Given the description of an element on the screen output the (x, y) to click on. 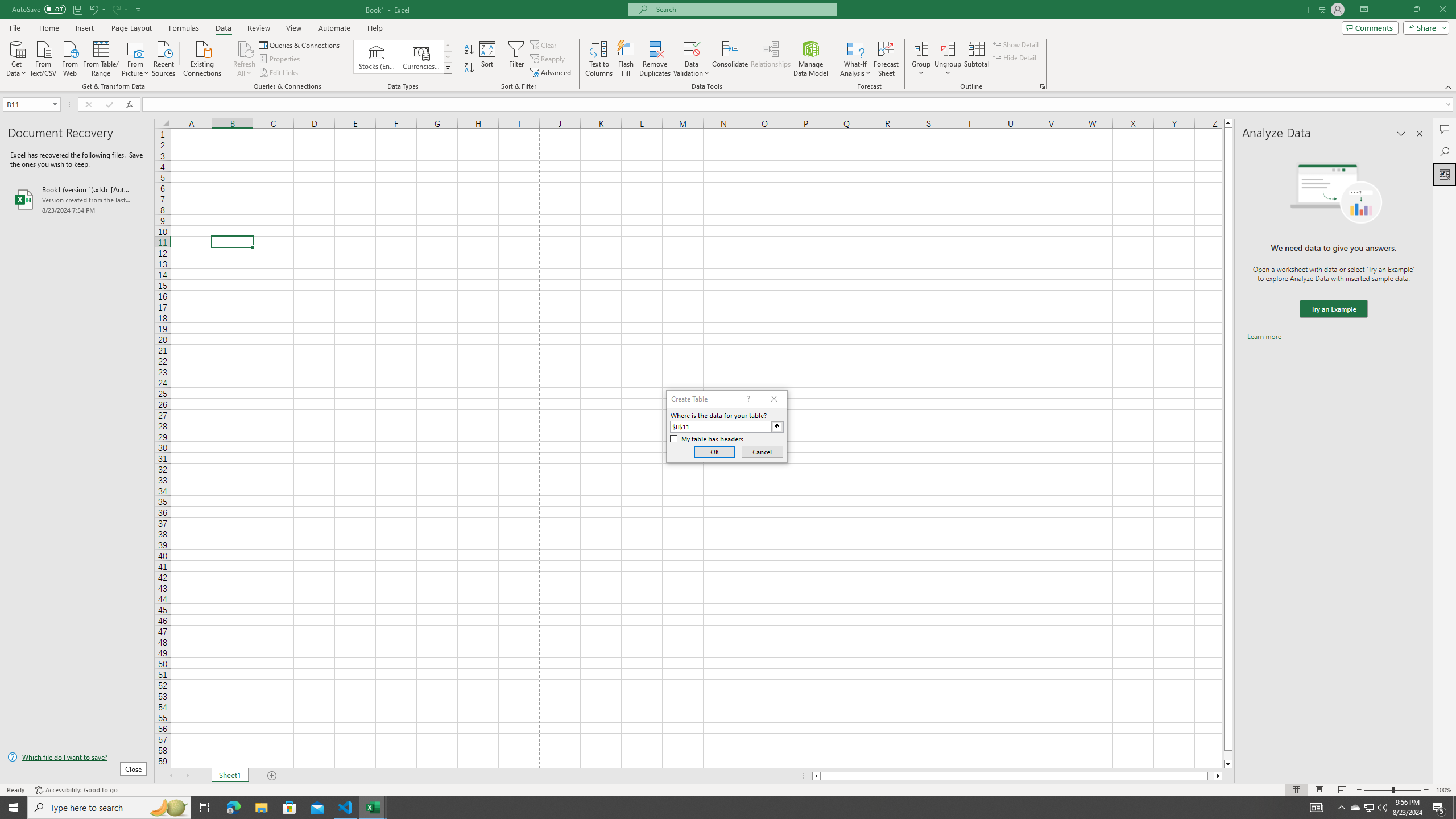
From Text/CSV (43, 57)
Customize Quick Access Toolbar (139, 9)
Reapply (548, 58)
Page right (1211, 775)
Edit Links (279, 72)
AutoSave (38, 9)
Clear (544, 44)
Sort A to Z (469, 49)
Quick Access Toolbar (77, 9)
Zoom (1392, 790)
Consolidate... (729, 58)
